Given the description of an element on the screen output the (x, y) to click on. 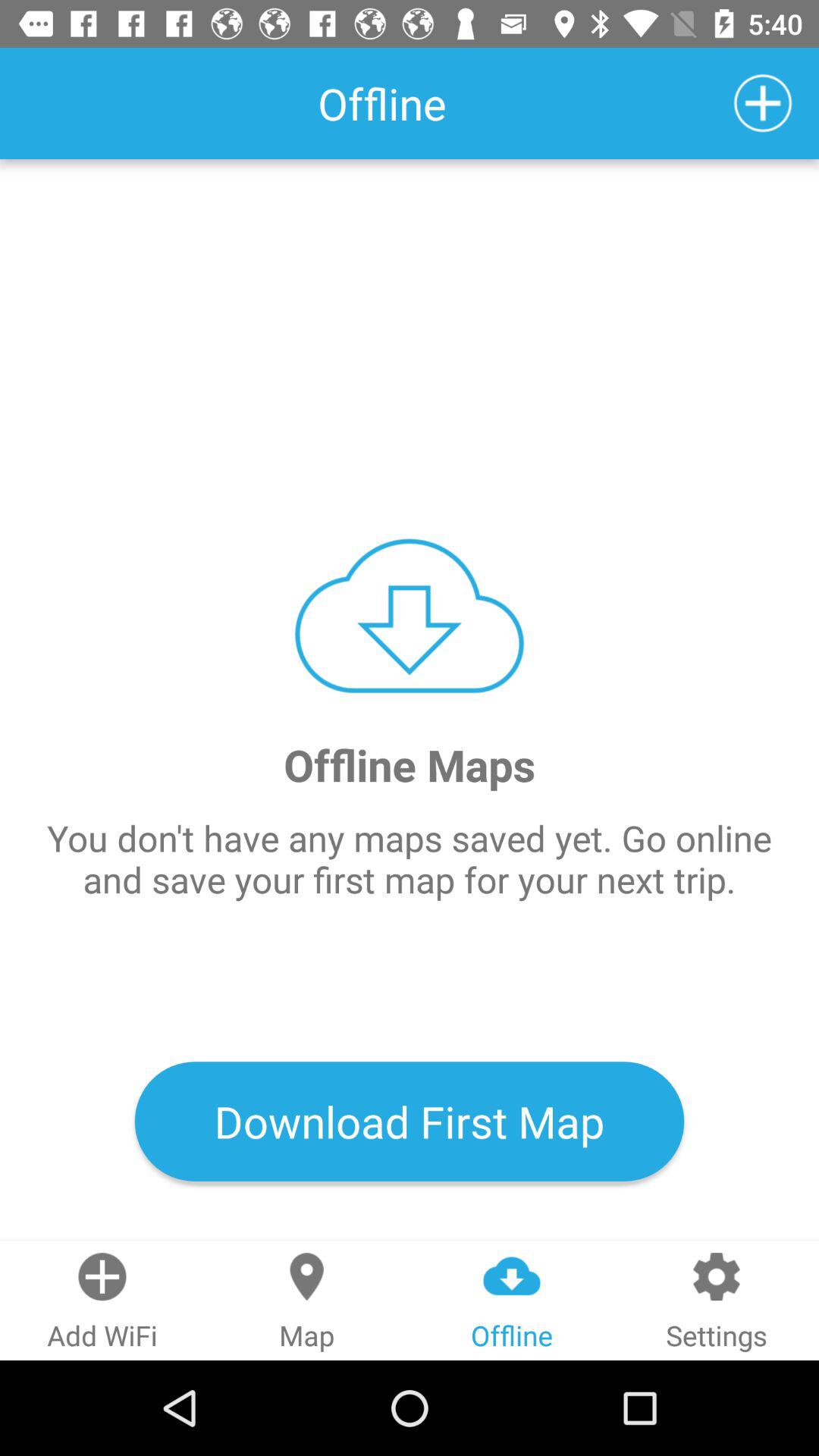
press the item next to the offline item (762, 103)
